Given the description of an element on the screen output the (x, y) to click on. 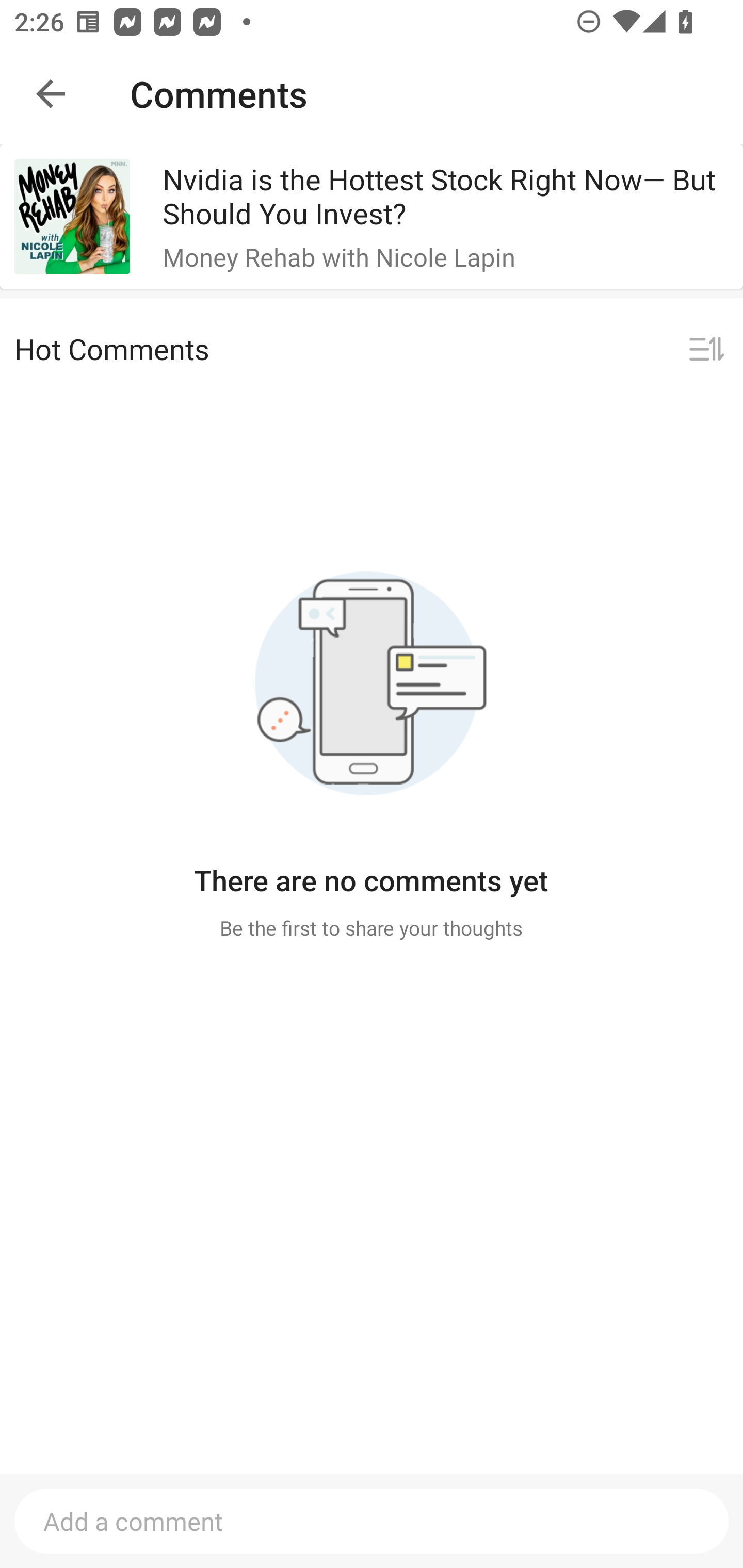
Navigate up (50, 93)
 (706, 349)
Add a comment (371, 1520)
